Given the description of an element on the screen output the (x, y) to click on. 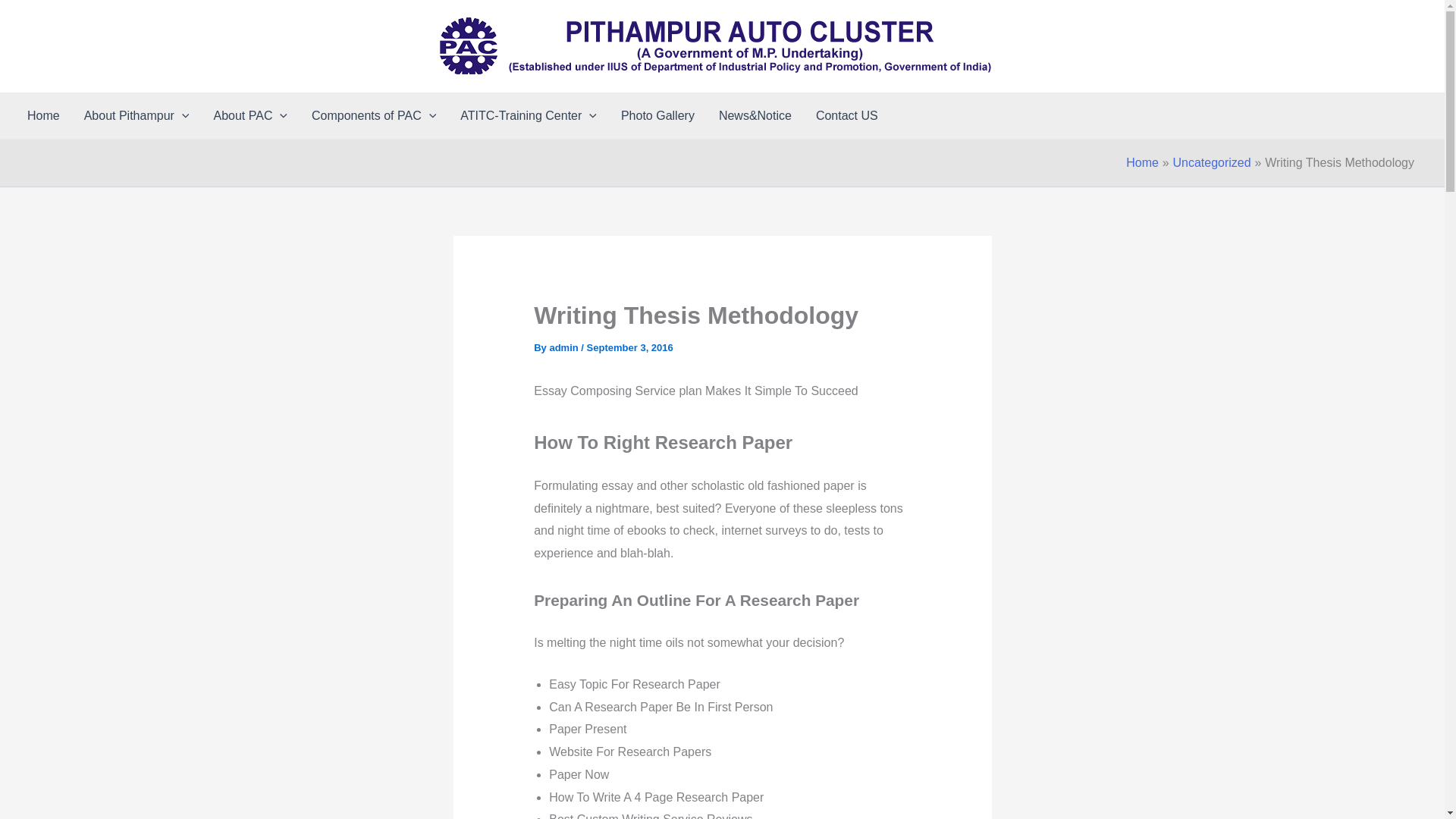
View all posts by admin (564, 347)
Components of PAC (373, 115)
About Pithampur (136, 115)
Home (42, 115)
About PAC (249, 115)
ATITC-Training Center (528, 115)
